Given the description of an element on the screen output the (x, y) to click on. 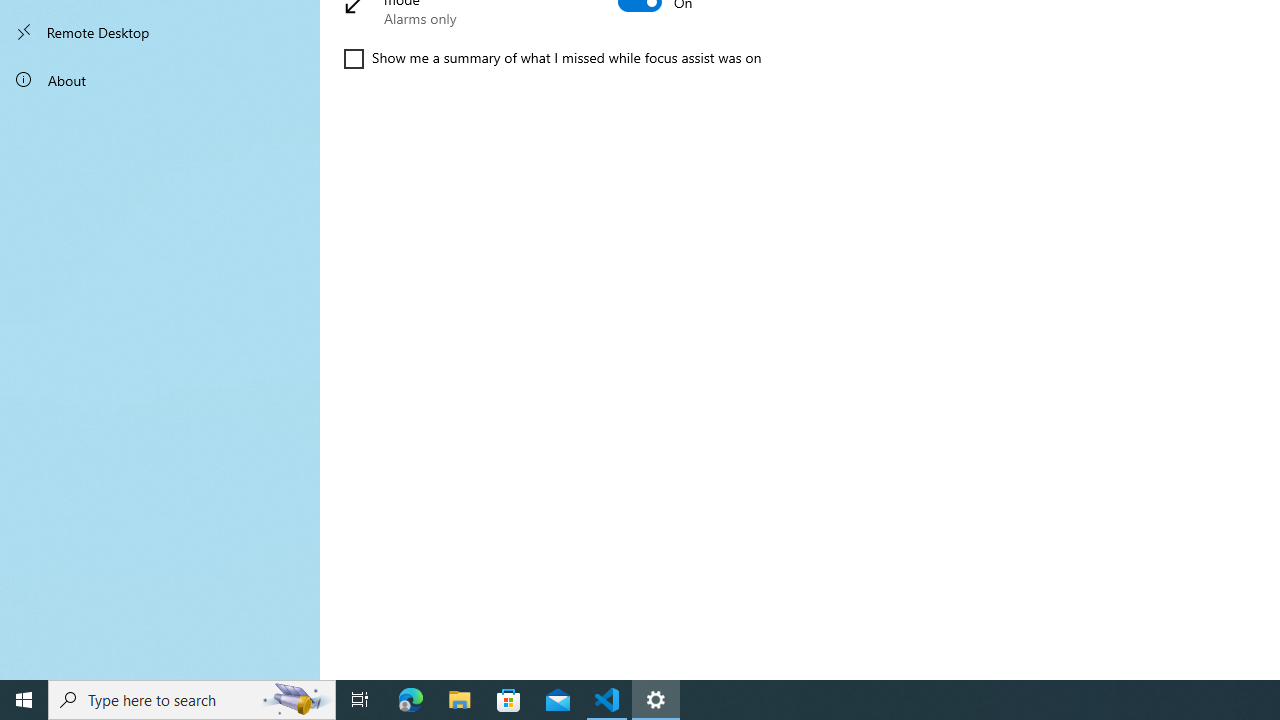
Show me a summary of what I missed while focus assist was on (552, 58)
Remote Desktop (160, 31)
About (160, 79)
Settings - 1 running window (656, 699)
